Given the description of an element on the screen output the (x, y) to click on. 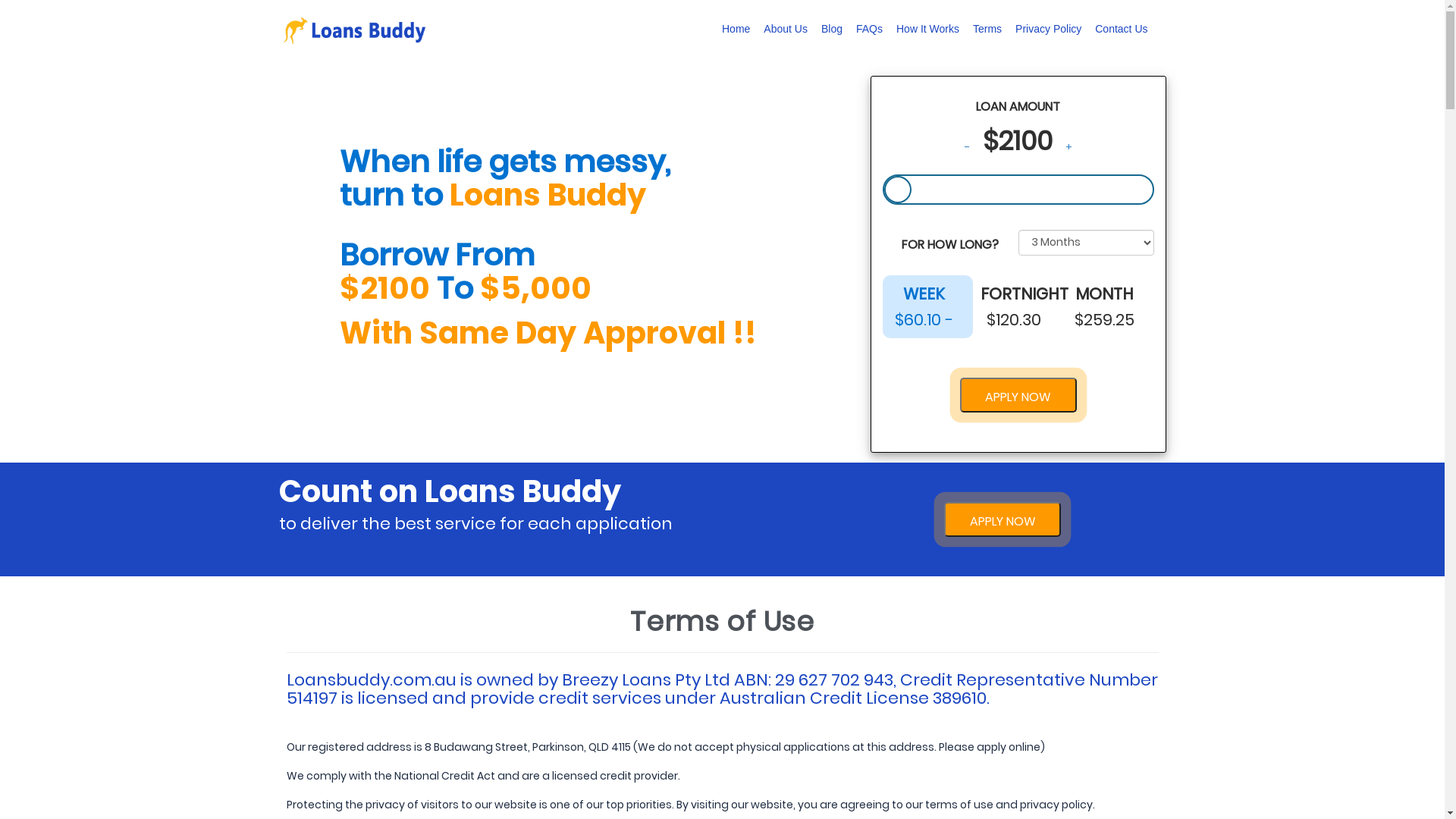
APPLY NOW Element type: text (1002, 519)
+ Element type: text (1068, 147)
APPLY NOW Element type: text (1002, 521)
How It Works Element type: text (927, 28)
Contact Us Element type: text (1121, 28)
FAQs Element type: text (869, 28)
Terms Element type: text (986, 28)
- Element type: text (966, 147)
Privacy Policy Element type: text (1048, 28)
Home Element type: text (735, 28)
Blog Element type: text (831, 28)
About Us Element type: text (785, 28)
APPLY NOW Element type: text (1018, 394)
